Given the description of an element on the screen output the (x, y) to click on. 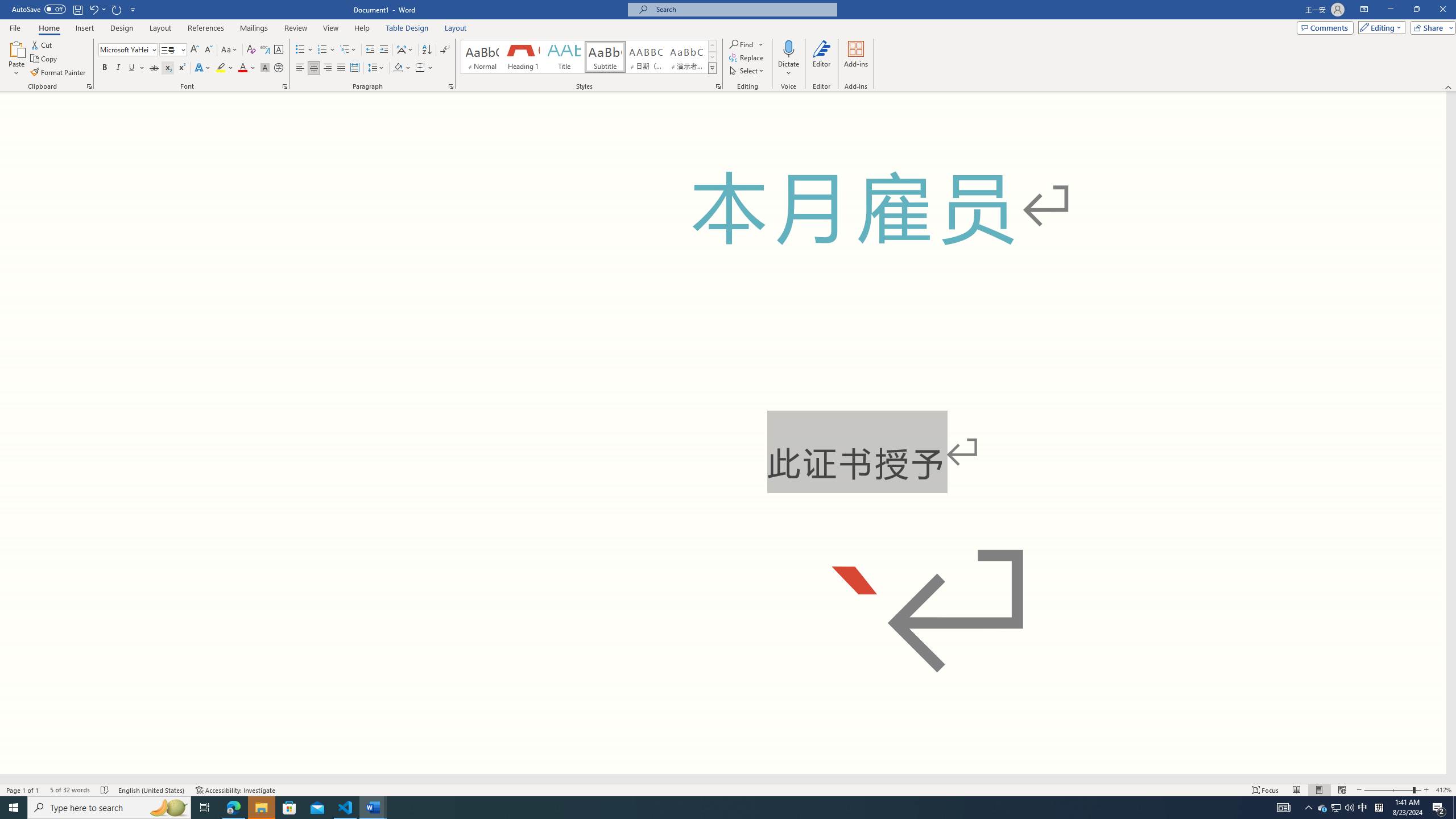
Zoom 412% (1443, 790)
